Given the description of an element on the screen output the (x, y) to click on. 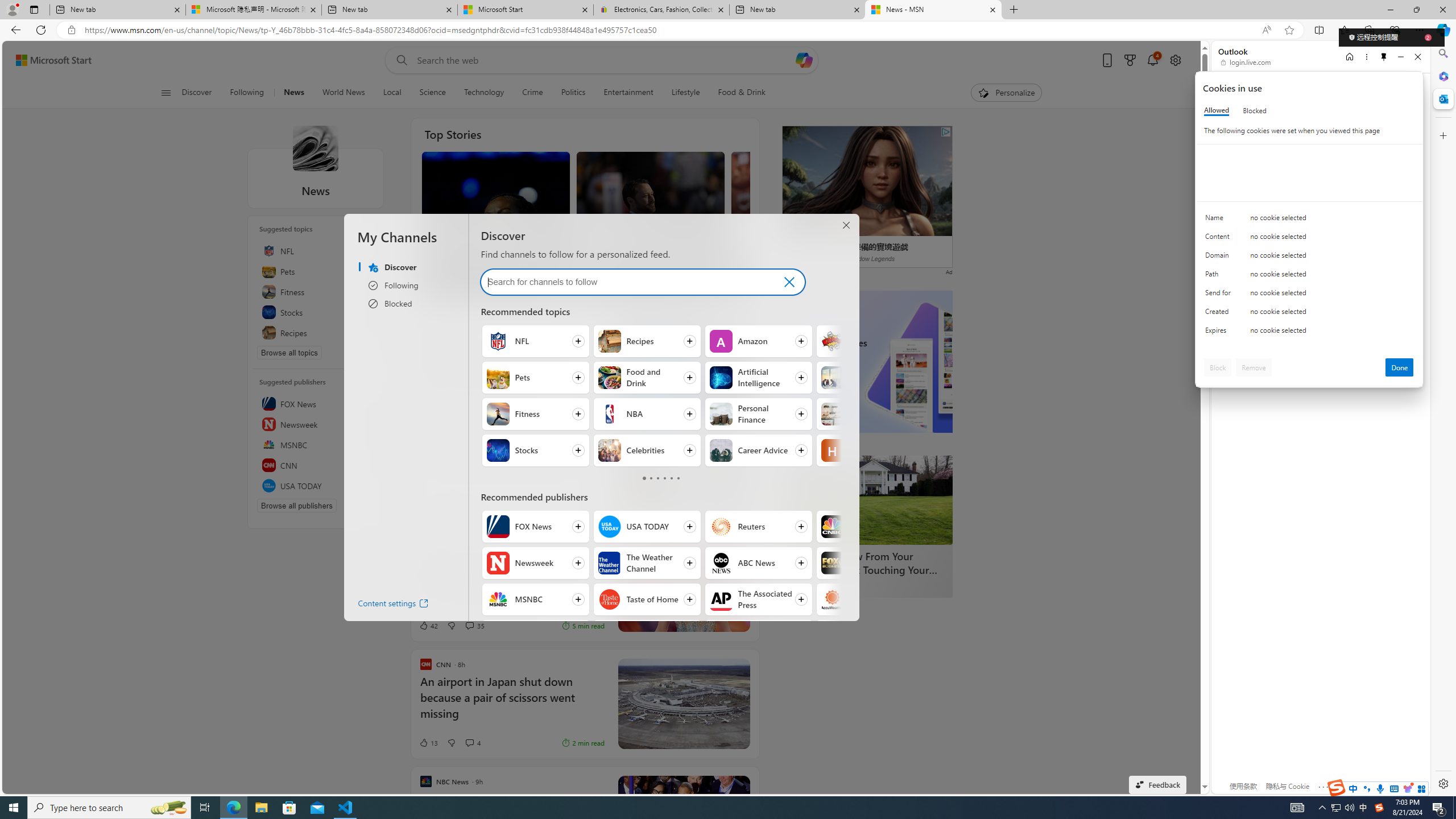
Follow Business (869, 377)
Follow Personal Finance (758, 413)
Following (246, 92)
Recipes (609, 341)
42 Like (427, 625)
Stocks (315, 311)
Follow The Weather Channel (646, 563)
Copilot (Ctrl+Shift+.) (1442, 29)
Comparables.ai (462, 511)
Ad (429, 511)
Follow Reuters (758, 526)
Technology (483, 92)
World News (343, 92)
Open Copilot (803, 59)
